Given the description of an element on the screen output the (x, y) to click on. 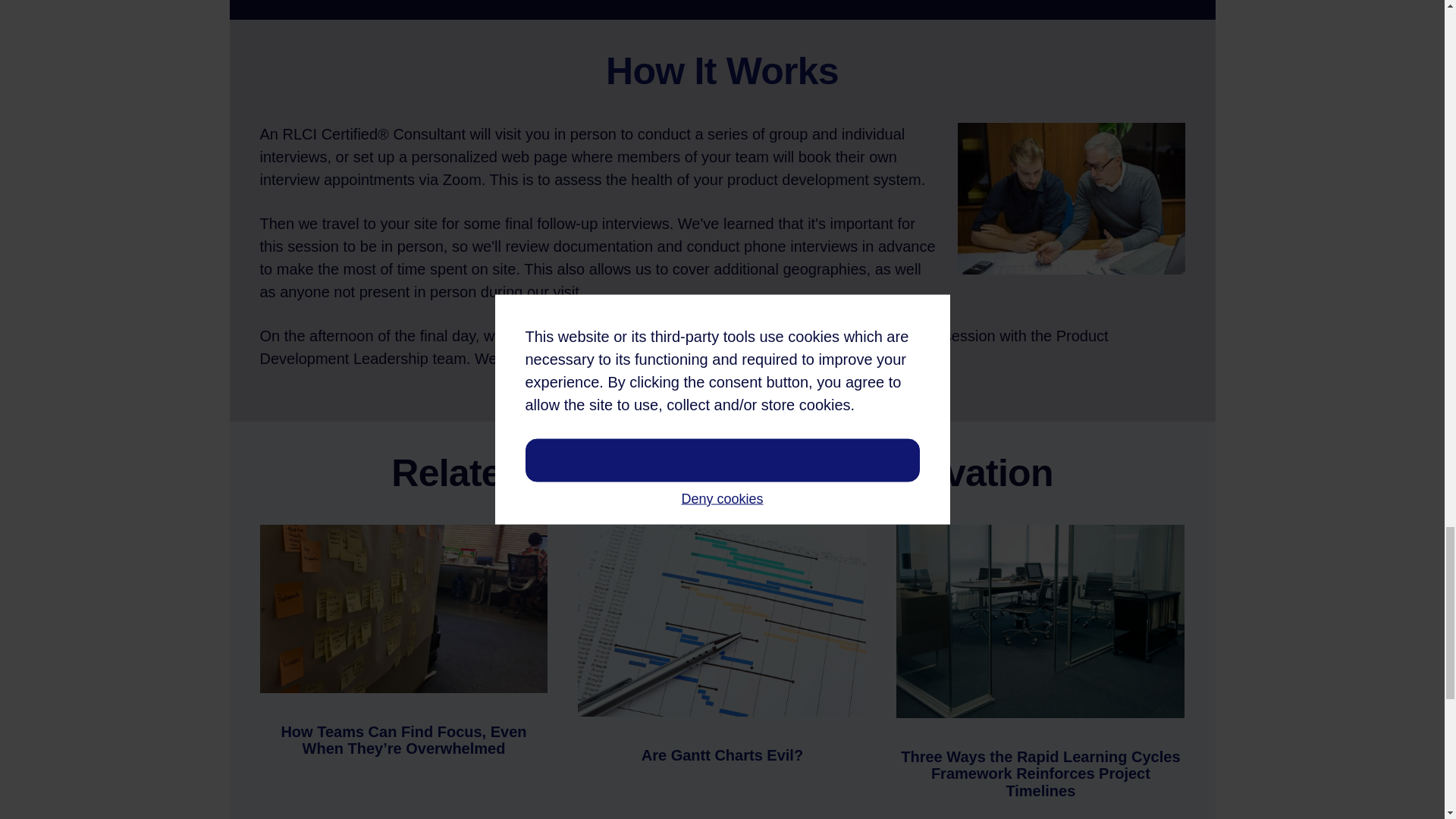
Are Gantt Charts Evil? (722, 754)
Are-Gantt-Charts-Evil-1024x683.png (722, 620)
ManagingUncertainty.jpg (1040, 621)
How-We-Used-RLCs-compressed.png (403, 608)
